Given the description of an element on the screen output the (x, y) to click on. 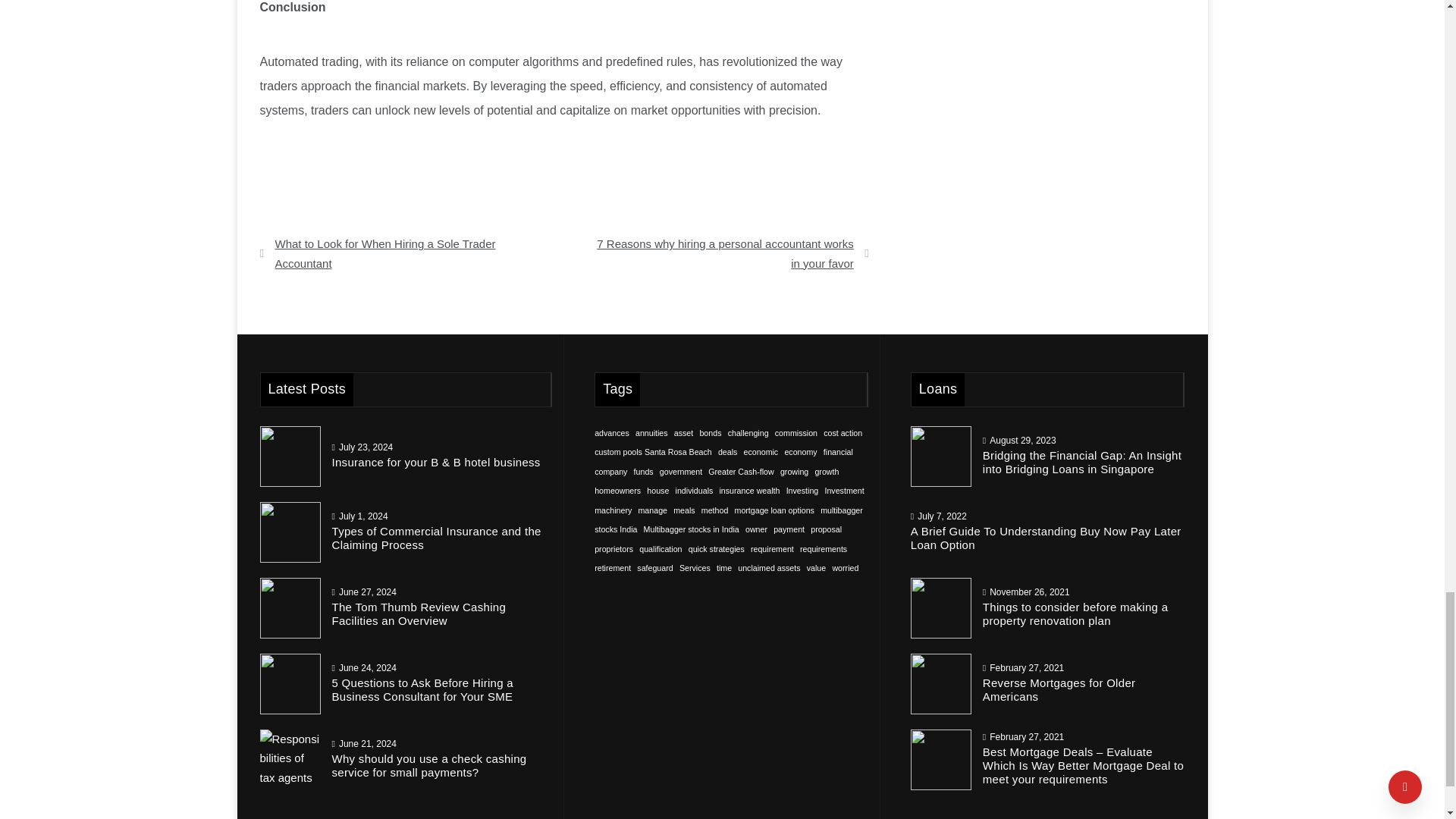
What to Look for When Hiring a Sole Trader Accountant (406, 253)
